Given the description of an element on the screen output the (x, y) to click on. 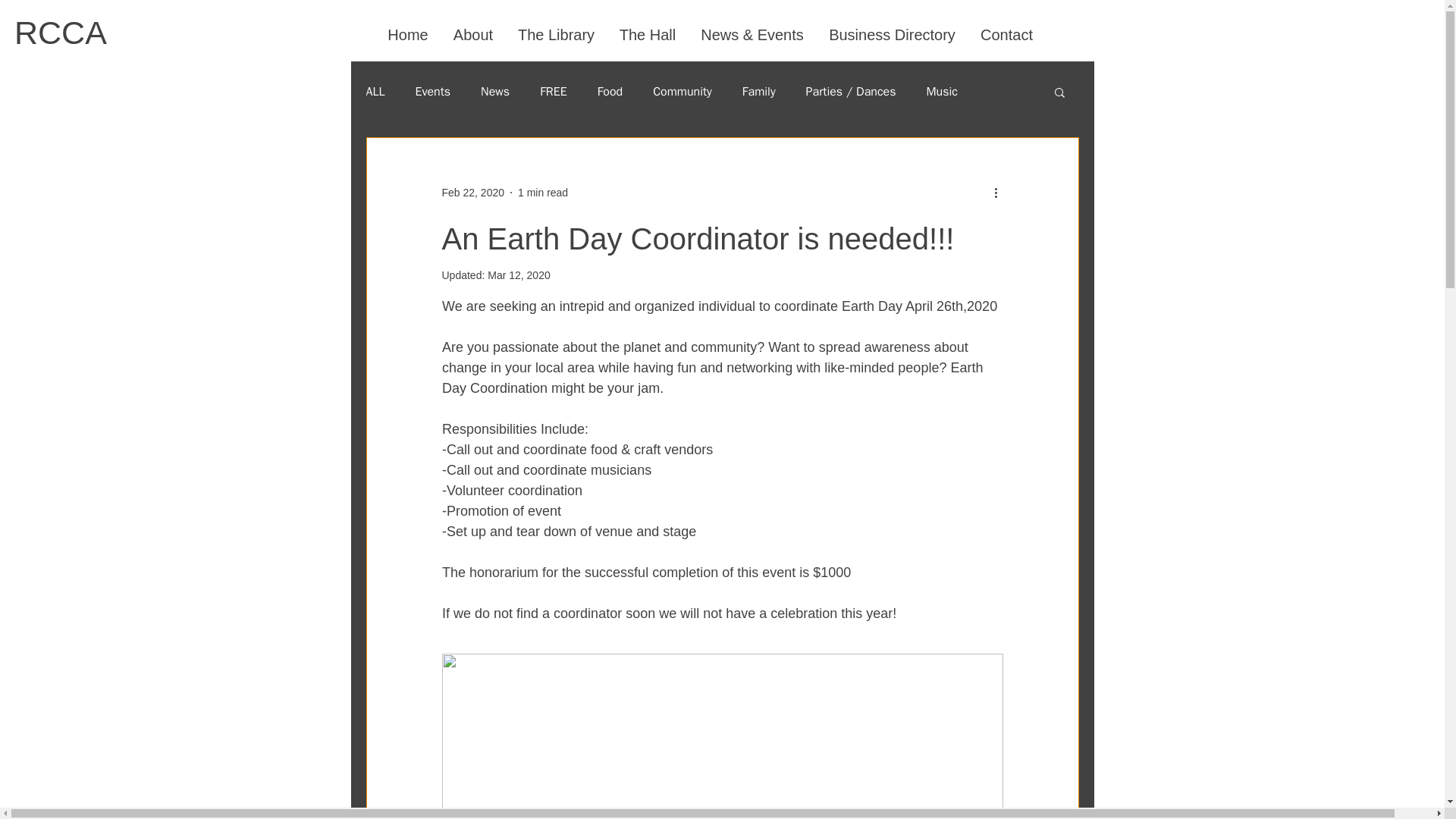
Feb 22, 2020 (472, 192)
1 min read (542, 192)
Family (759, 91)
Events (431, 91)
Food (609, 91)
Home (407, 34)
News (494, 91)
The Library (556, 34)
Community (681, 91)
About (473, 34)
